Given the description of an element on the screen output the (x, y) to click on. 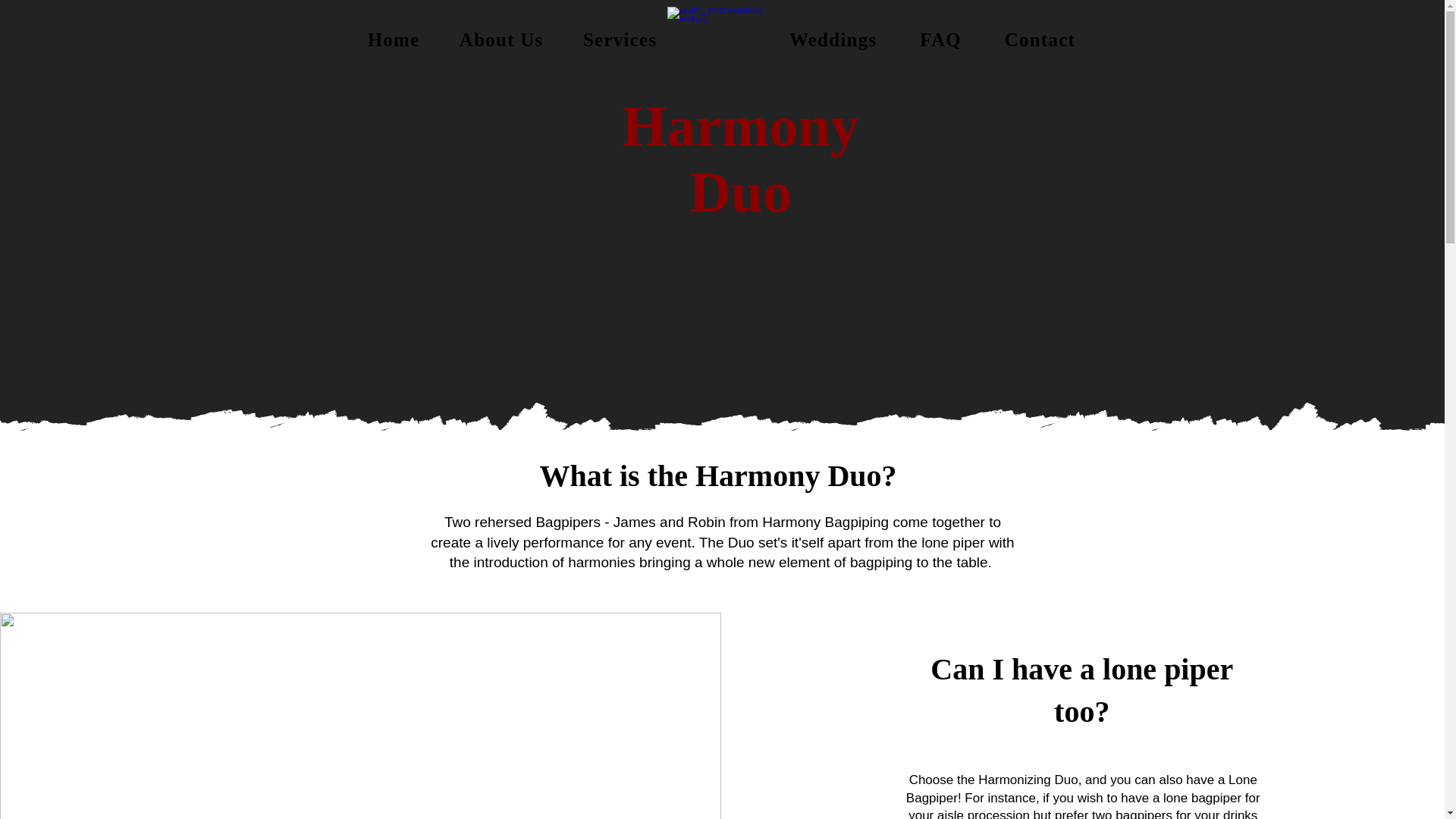
Weddings (832, 39)
FAQ (940, 39)
Contact (1039, 39)
About Us (501, 39)
Services (620, 39)
Home (392, 39)
